Given the description of an element on the screen output the (x, y) to click on. 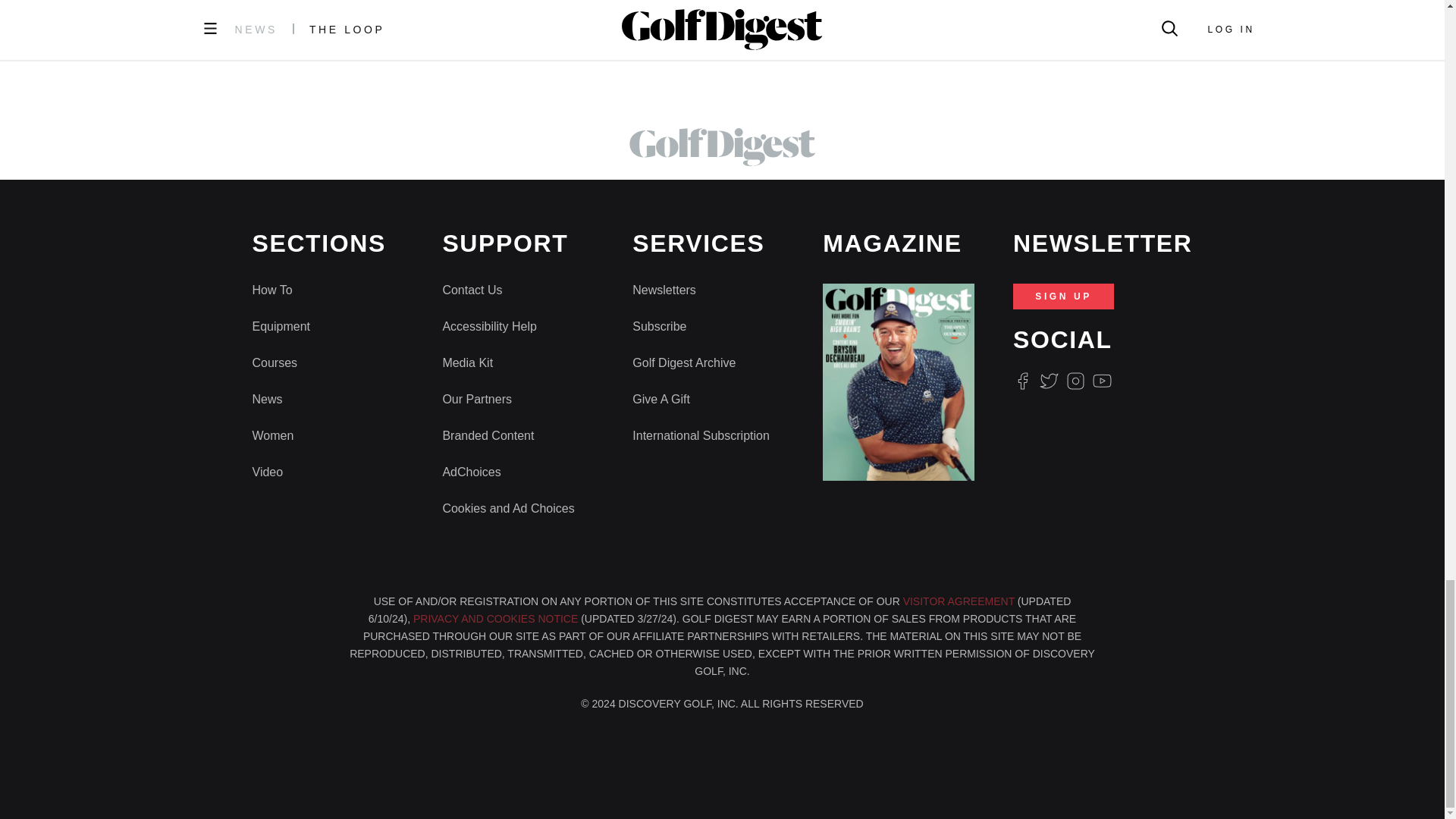
Youtube Icon (1102, 380)
Instagram Logo (1074, 380)
Twitter Logo (1048, 380)
Facebook Logo (1022, 380)
